Given the description of an element on the screen output the (x, y) to click on. 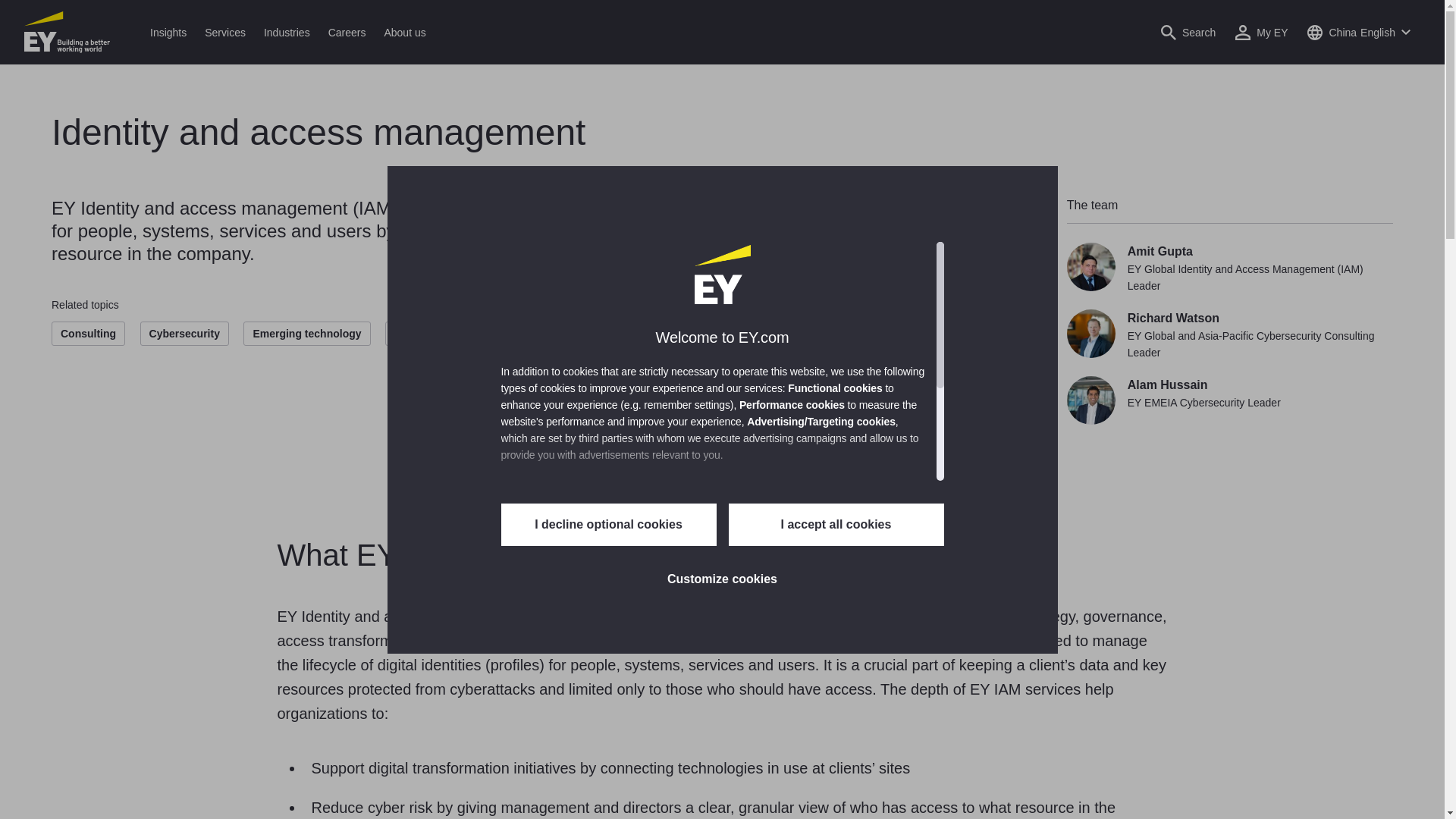
My EY (1261, 32)
EY Homepage (67, 32)
Open country language switcher (1358, 32)
Open search (1188, 32)
